Given the description of an element on the screen output the (x, y) to click on. 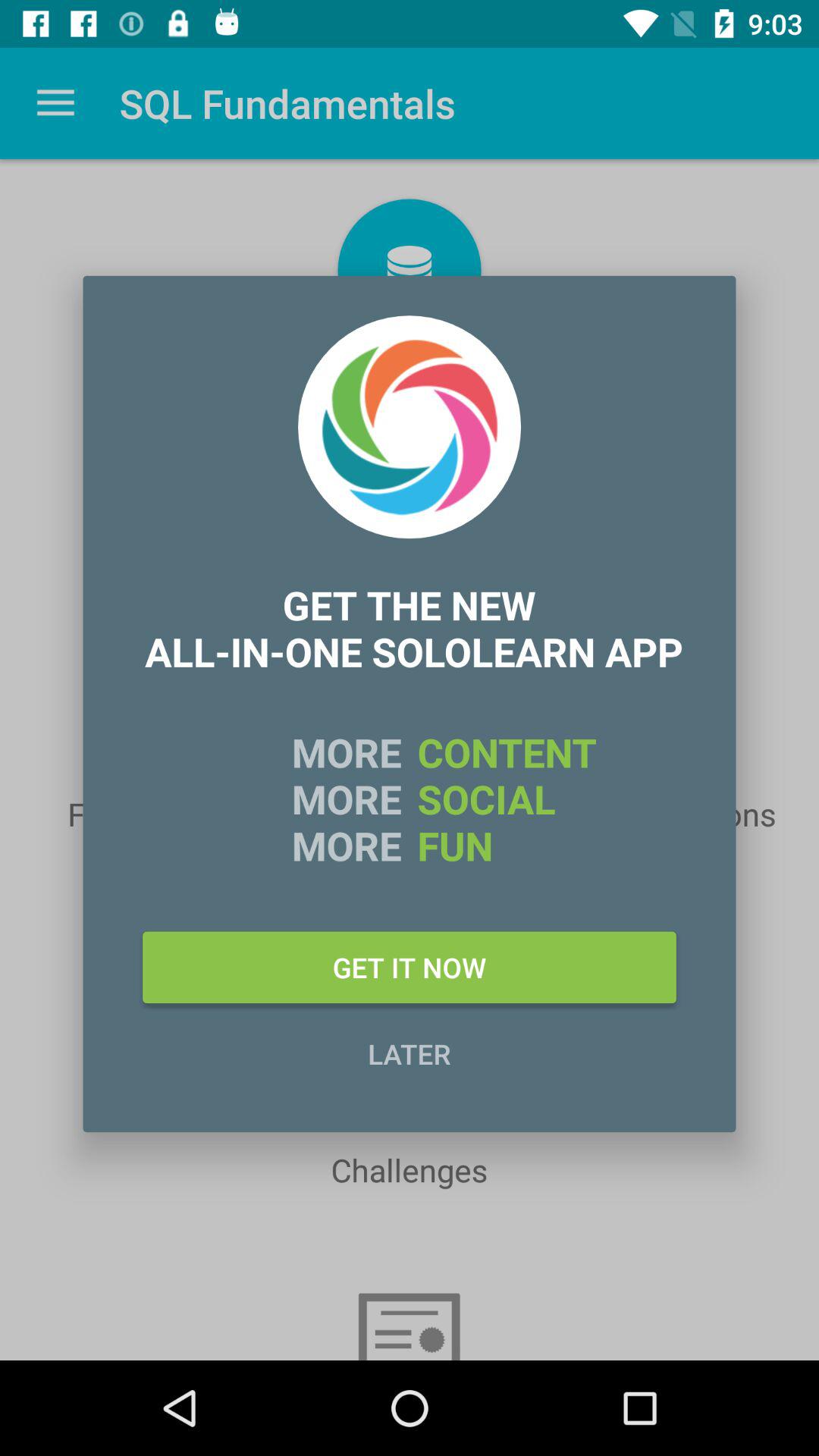
launch the icon above later item (409, 967)
